Given the description of an element on the screen output the (x, y) to click on. 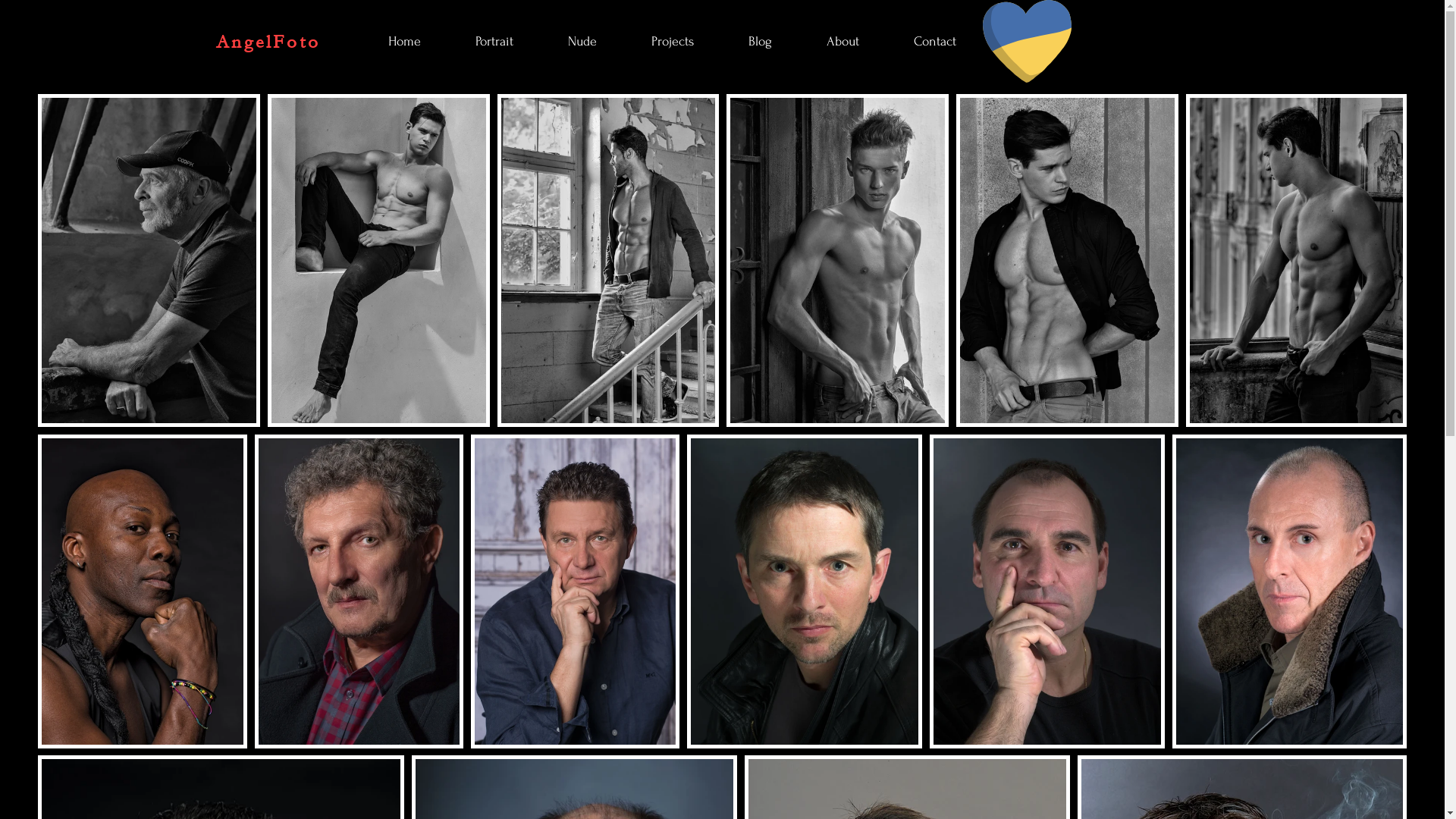
Contact Element type: text (950, 41)
AngelFoto Element type: text (267, 42)
Visitor Analytics Element type: hover (1442, 4)
About Element type: text (857, 41)
Home Element type: text (419, 41)
